Given the description of an element on the screen output the (x, y) to click on. 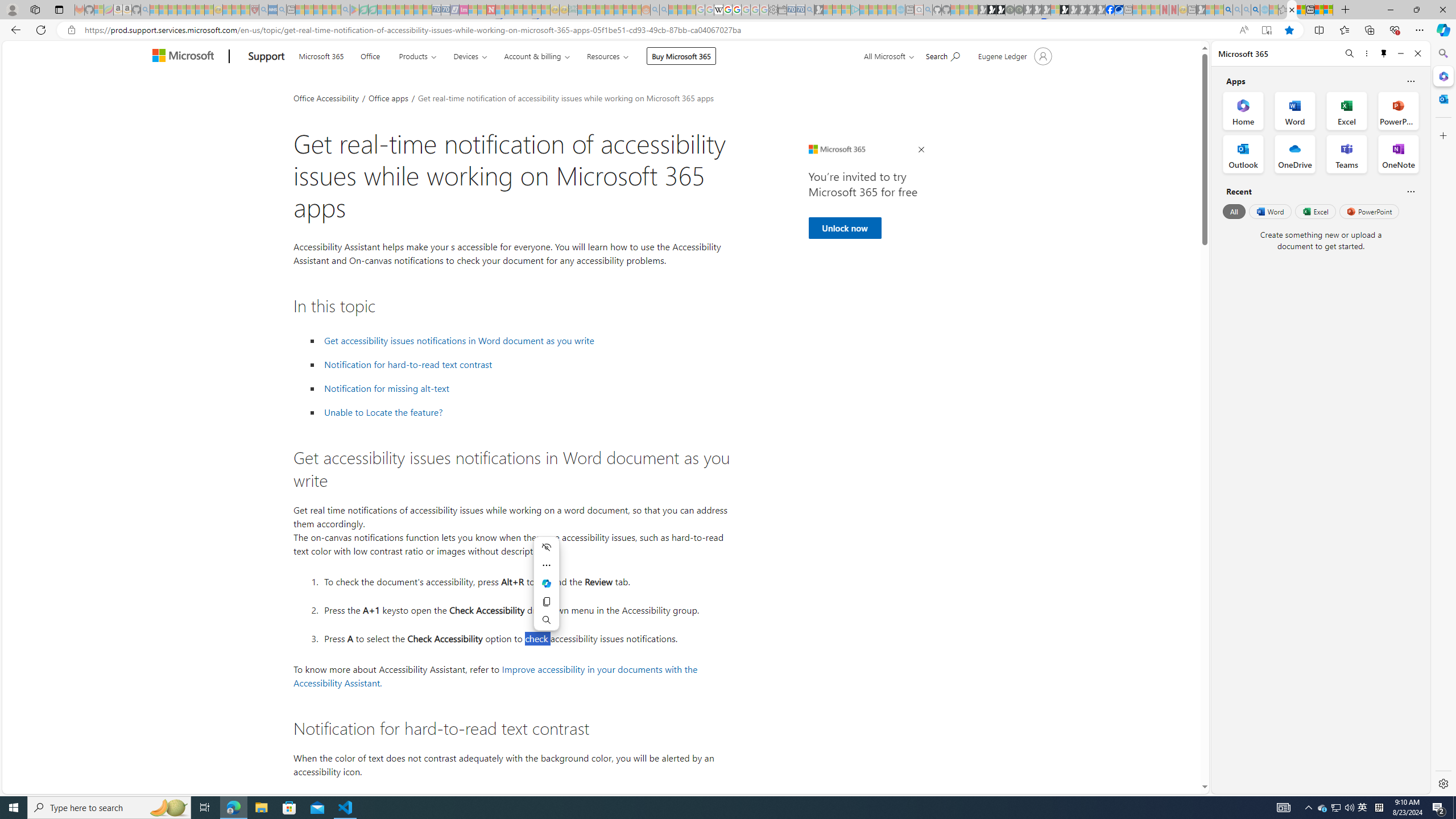
Bing AI - Search (1227, 9)
Aberdeen, Hong Kong SAR weather forecast | Microsoft Weather (1300, 9)
Word (1269, 210)
Close Ad (920, 149)
